Given the description of an element on the screen output the (x, y) to click on. 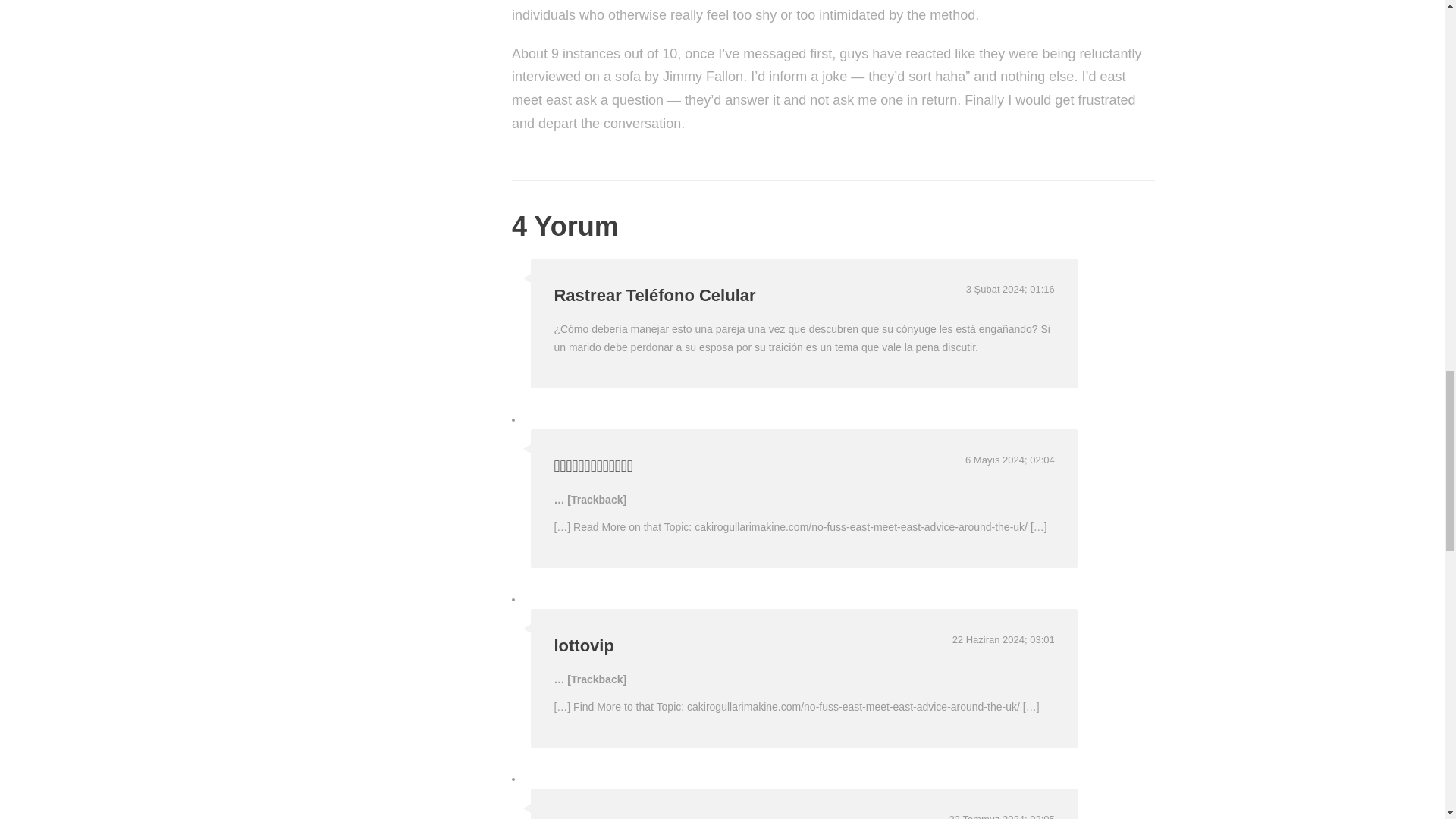
lottovip (582, 645)
